Given the description of an element on the screen output the (x, y) to click on. 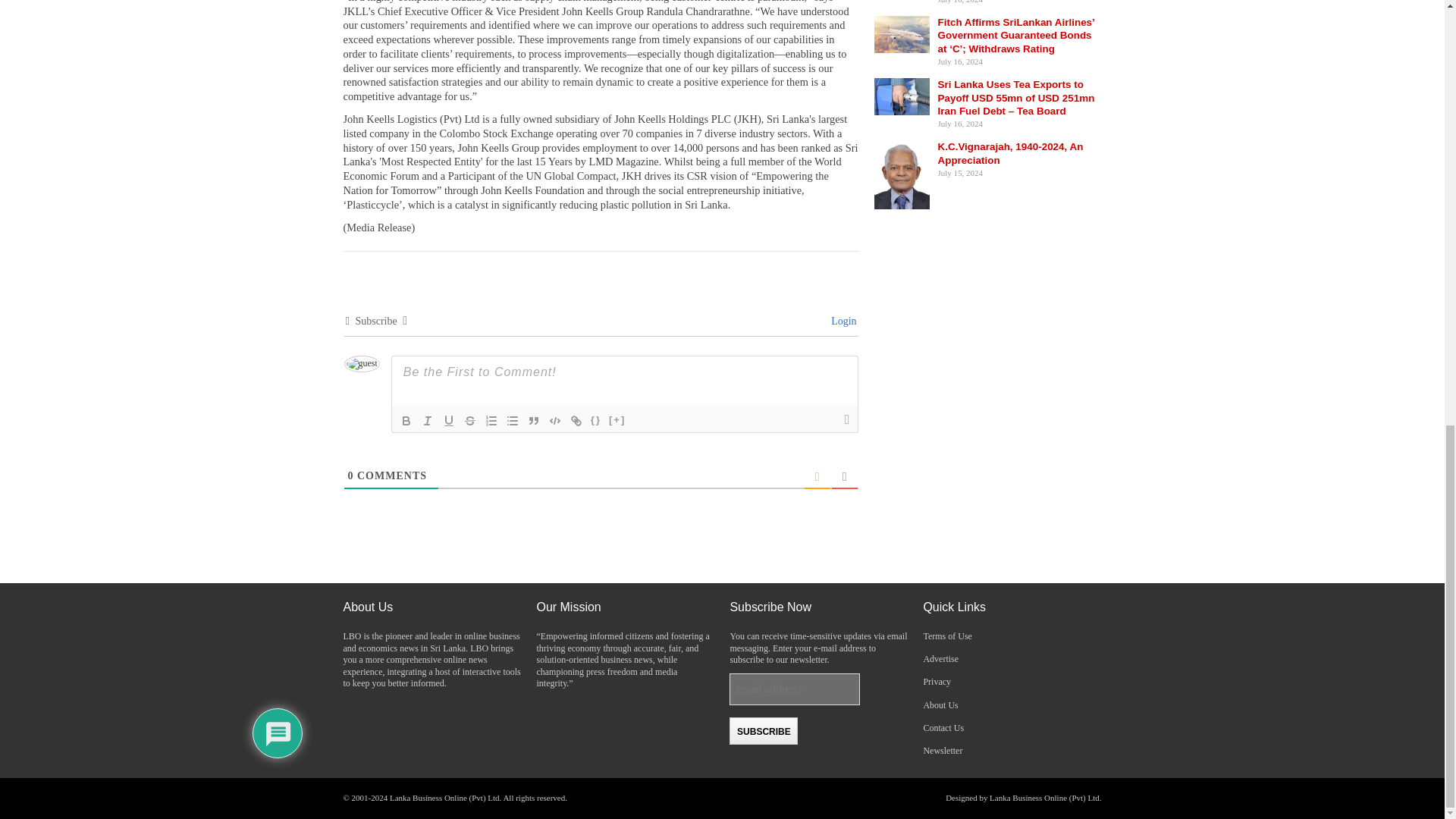
Blockquote (533, 420)
Subscribe (763, 730)
Unordered List (512, 420)
Ordered List (491, 420)
Strike (470, 420)
Code Block (555, 420)
Italic (427, 420)
Link (576, 420)
Source Code (595, 420)
Underline (449, 420)
Bold (406, 420)
